Given the description of an element on the screen output the (x, y) to click on. 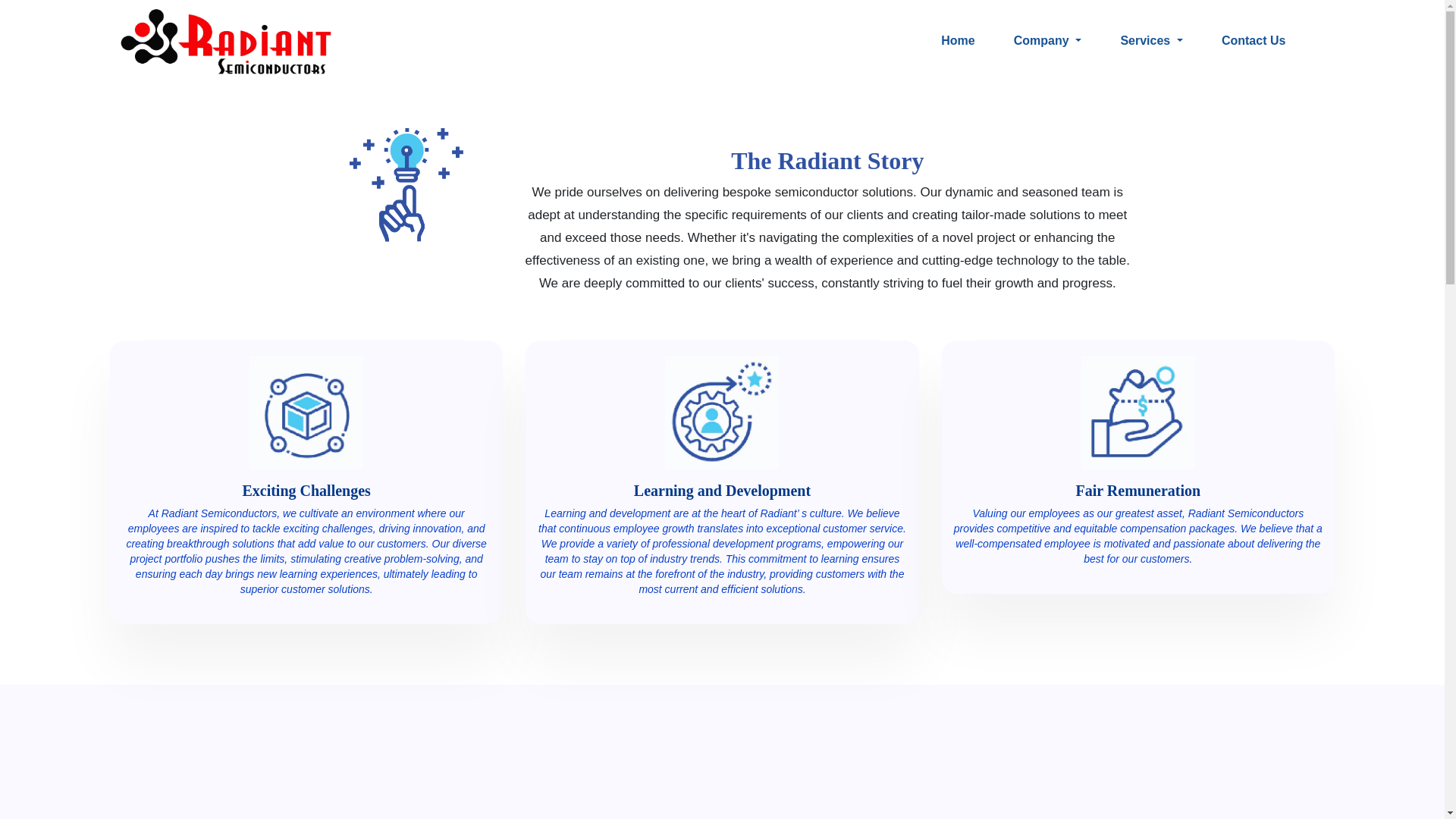
Services (1150, 40)
Contact Us (1253, 40)
Home (956, 40)
Company (1047, 40)
